Given the description of an element on the screen output the (x, y) to click on. 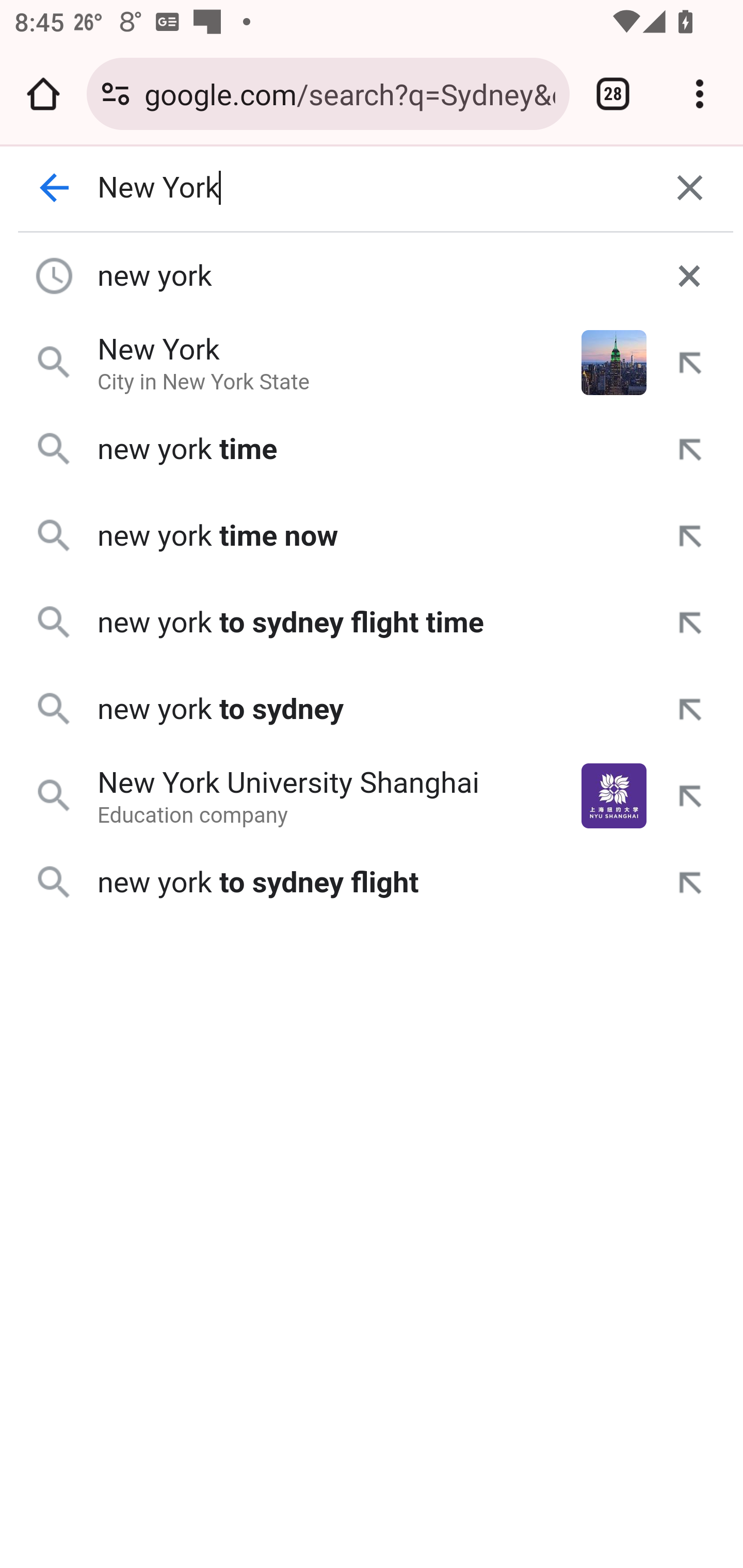
Open the home page (43, 93)
Connection is secure (115, 93)
Switch or close tabs (612, 93)
Customize and control Google Chrome (699, 93)
Back (54, 188)
Clear Search (690, 188)
New York (372, 188)
Delete (689, 274)
